Given the description of an element on the screen output the (x, y) to click on. 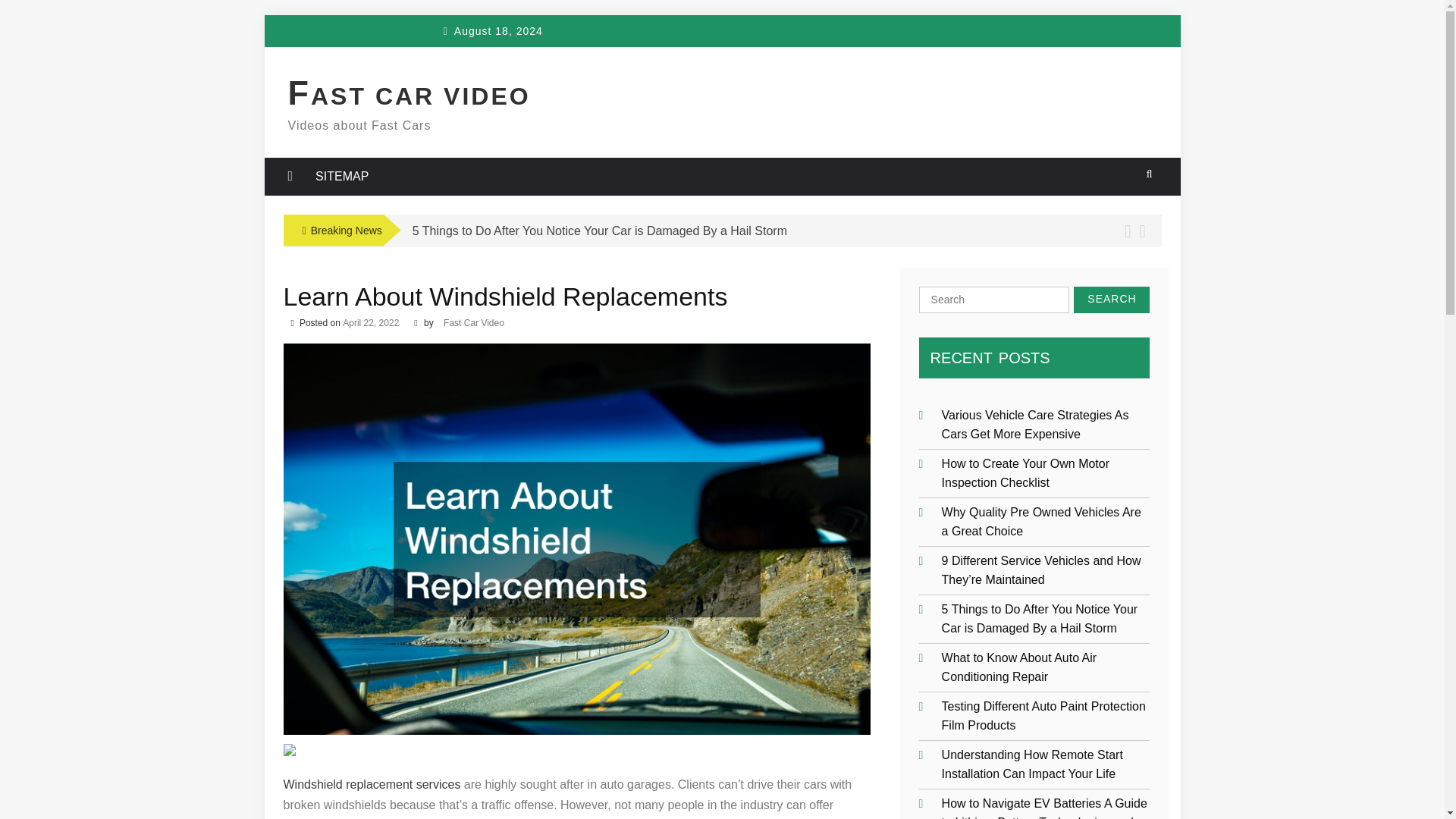
Testing Different Auto Paint Protection Film Products (1043, 715)
FAST CAR VIDEO (409, 95)
Fast Car Video (473, 322)
Search (1112, 299)
Search (1112, 299)
How to Create Your Own Motor Inspection Checklist (1025, 472)
Various Vehicle Care Strategies As Cars Get More Expensive (1035, 423)
What to Know About Auto Air Conditioning Repair (1019, 666)
SITEMAP (342, 176)
